Given the description of an element on the screen output the (x, y) to click on. 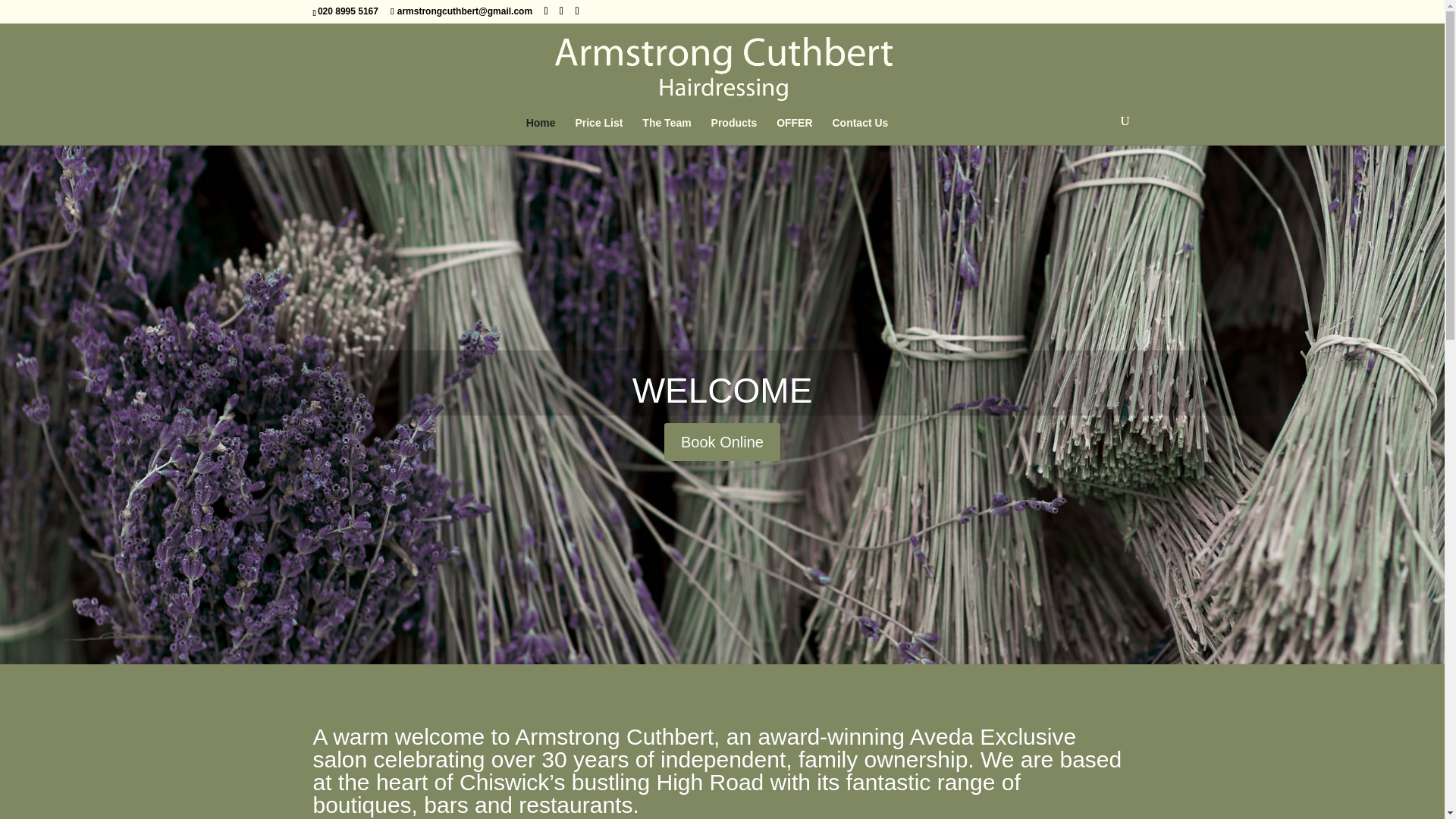
Home (540, 130)
The Team (666, 130)
Price List (599, 130)
Products (734, 130)
Contact Us (859, 130)
OFFER (794, 130)
